Given the description of an element on the screen output the (x, y) to click on. 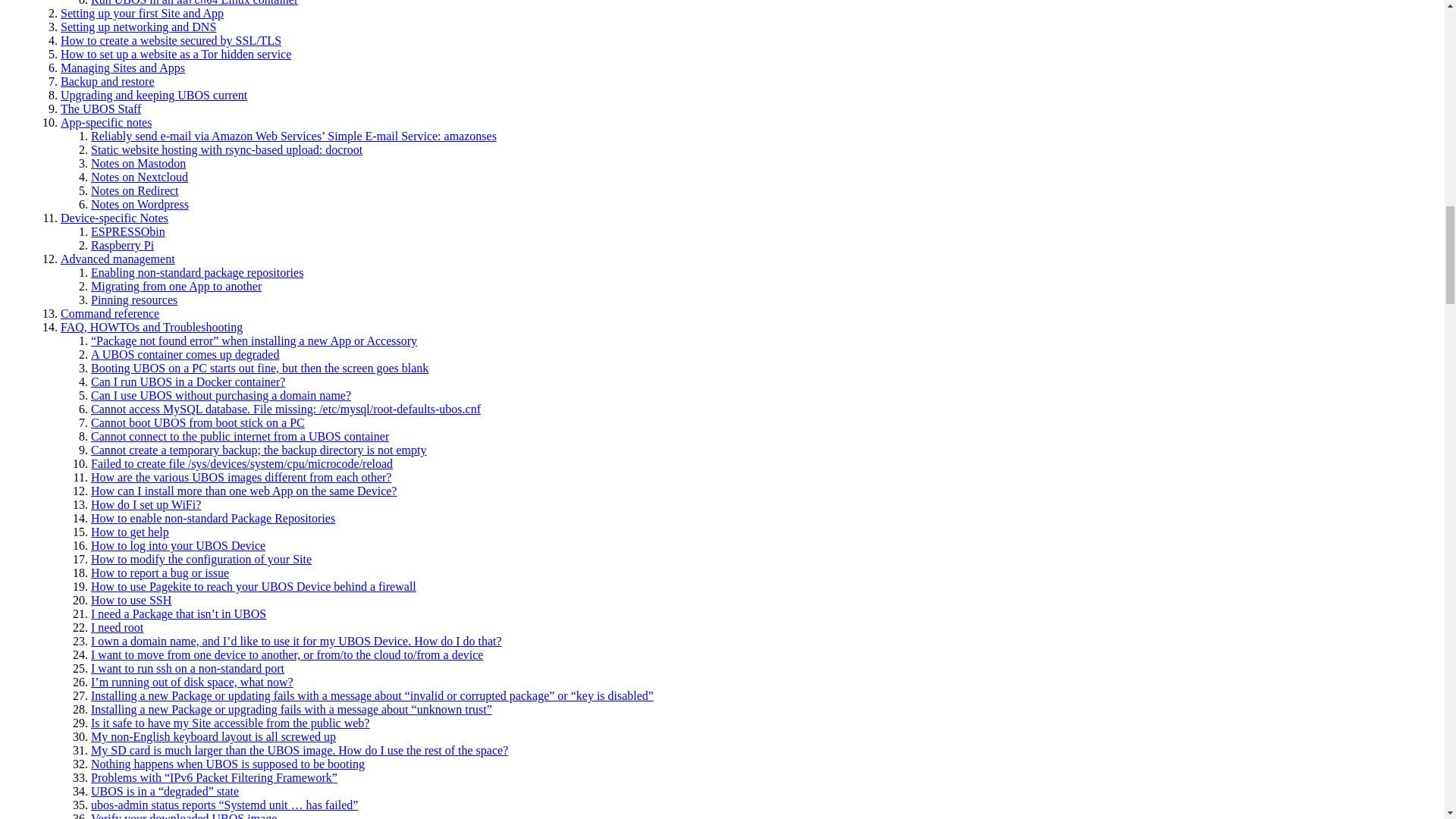
Migrating from one App to another (176, 286)
Notes on Redirect (134, 190)
Pinning resources (133, 299)
Notes on Nextcloud (138, 176)
Setting up your first Site and App (142, 12)
Advanced management (117, 258)
Enabling non-standard package repositories (196, 272)
Device-specific Notes (114, 217)
App-specific notes (106, 122)
Managing Sites and Apps (122, 67)
How to set up a website as a Tor hidden service (176, 53)
Can I run UBOS in a Docker container? (187, 381)
Run UBOS in an aarch64 Linux container (194, 2)
A UBOS container comes up degraded (184, 354)
